Given the description of an element on the screen output the (x, y) to click on. 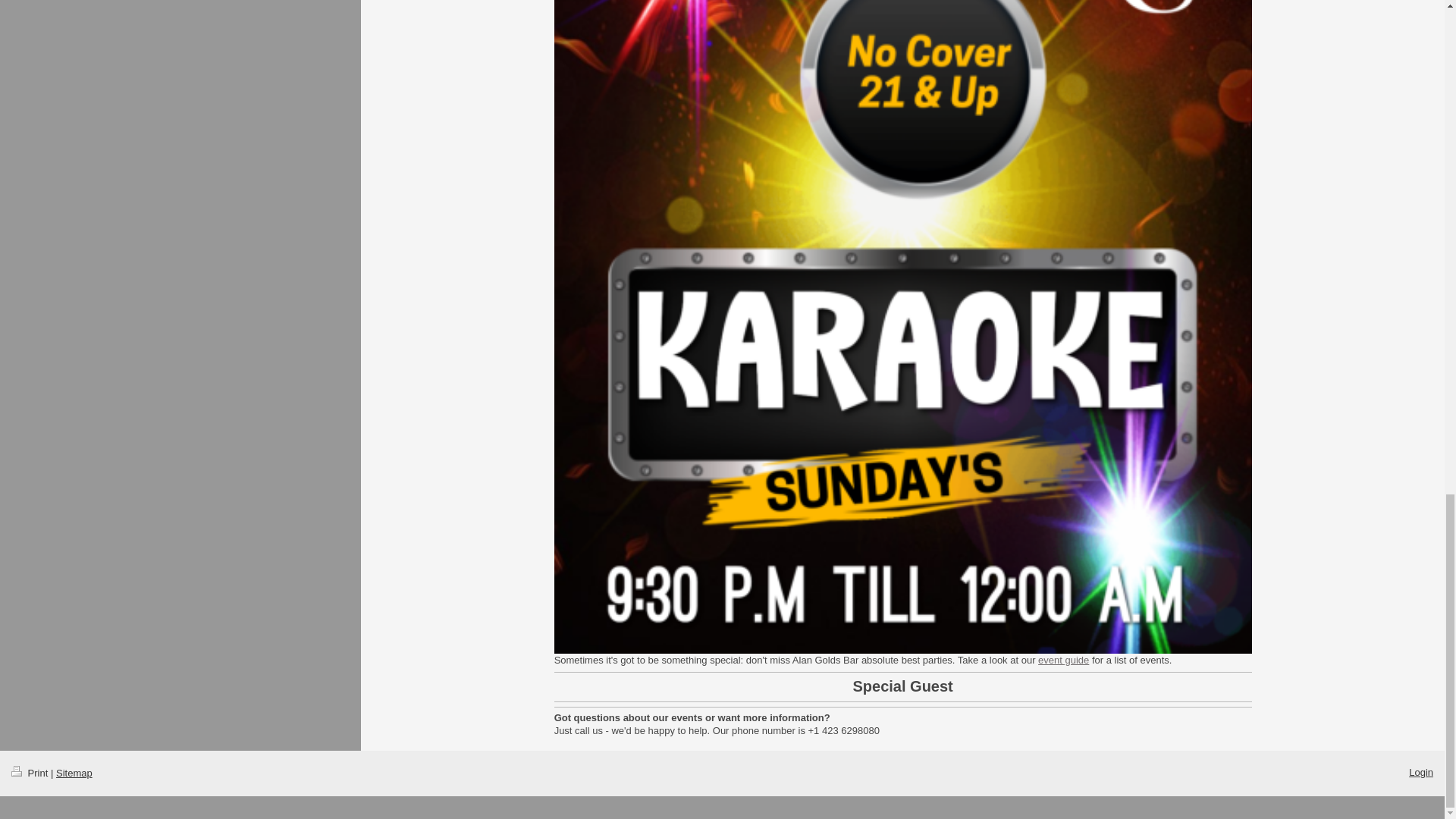
event guide (1063, 659)
